Given the description of an element on the screen output the (x, y) to click on. 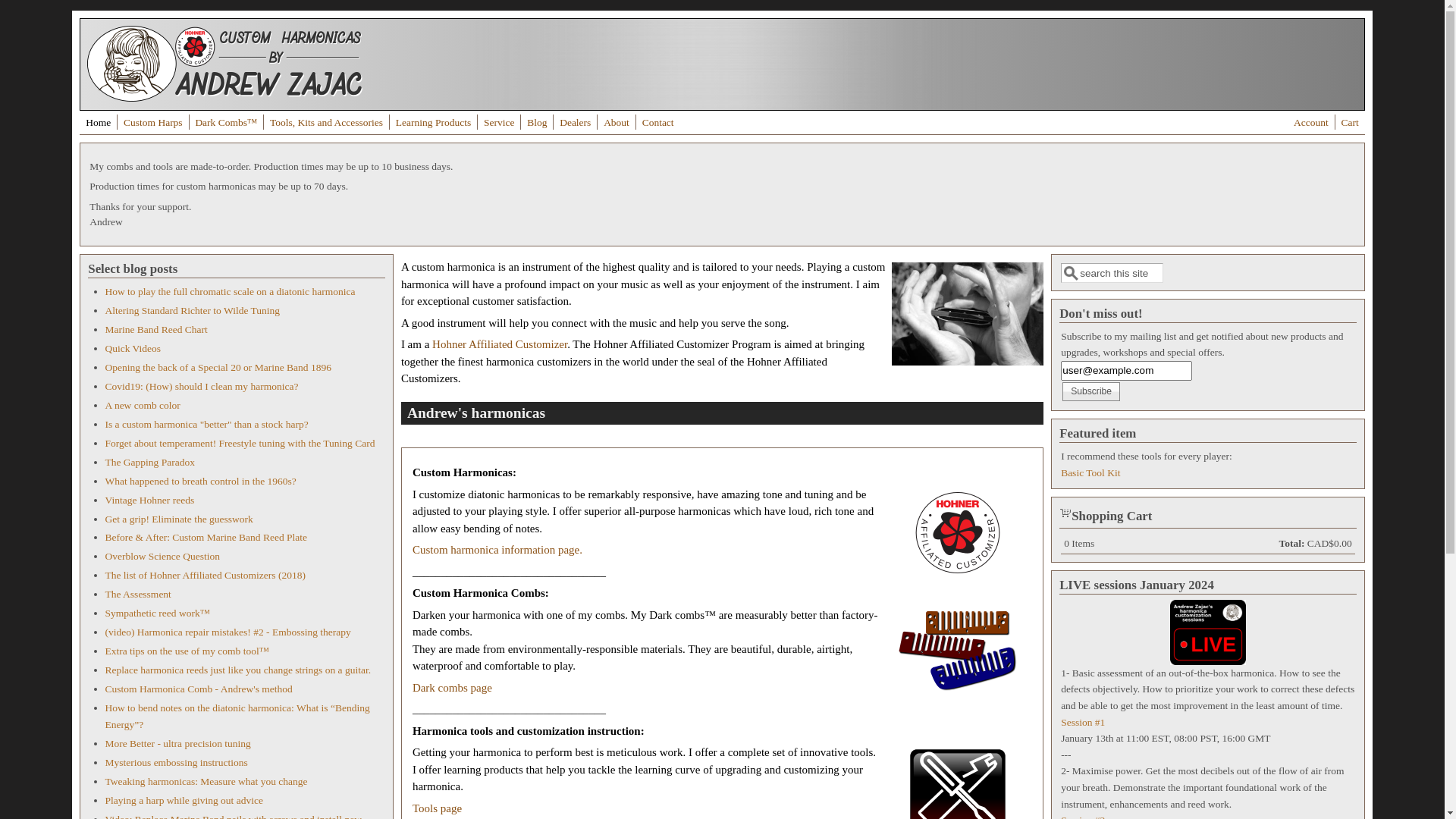
Blog Element type: text (536, 122)
Get a grip! Eliminate the guesswork Element type: text (178, 518)
What happened to breath control in the 1960s? Element type: text (199, 480)
Dealers Element type: text (574, 122)
Marine Band Reed Chart Element type: text (155, 329)
View your shopping cart. Element type: hover (1065, 511)
The list of Hohner Affiliated Customizers (2018) Element type: text (204, 574)
Altering Standard Richter to Wilde Tuning Element type: text (191, 310)
Custom Harps Element type: text (152, 122)
Contact Element type: text (658, 122)
Is a custom harmonica "better" than a stock harp? Element type: text (205, 423)
Mysterious embossing instructions Element type: text (175, 762)
Service Element type: text (498, 122)
Basic Tool Kit Element type: text (1090, 472)
Overblow Science Question Element type: text (161, 555)
Session #1 Element type: text (1082, 722)
Before & After: Custom Marine Band Reed Plate Element type: text (205, 536)
Hohner Affiliated Customizer Element type: text (499, 344)
Tools, Kits and Accessories Element type: text (325, 122)
Home Element type: text (97, 122)
Skip to main content Element type: text (47, 10)
About Element type: text (616, 122)
Account Element type: text (1310, 122)
Home Element type: hover (224, 97)
Custom Harmonica Comb - Andrew's method Element type: text (197, 688)
Dark combs page Element type: text (452, 687)
Learning Products Element type: text (432, 122)
The Assessment Element type: text (137, 593)
The Gapping Paradox Element type: text (149, 461)
Covid19: (How) should I clean my harmonica? Element type: text (201, 386)
Cart Element type: text (1349, 122)
More Better - ultra precision tuning Element type: text (177, 743)
Playing a harp while giving out advice Element type: text (183, 800)
Tweaking harmonicas: Measure what you change Element type: text (205, 781)
Opening the back of a Special 20 or Marine Band 1896 Element type: text (217, 367)
How to play the full chromatic scale on a diatonic harmonica Element type: text (229, 291)
Tools page Element type: text (436, 808)
A new comb color Element type: text (141, 405)
Subscribe Element type: text (1091, 391)
Vintage Hohner reeds Element type: text (149, 499)
Custom harmonica information page. Element type: text (497, 549)
Quick Videos Element type: text (132, 348)
(video) Harmonica repair mistakes! #2 - Embossing therapy Element type: text (227, 631)
